Given the description of an element on the screen output the (x, y) to click on. 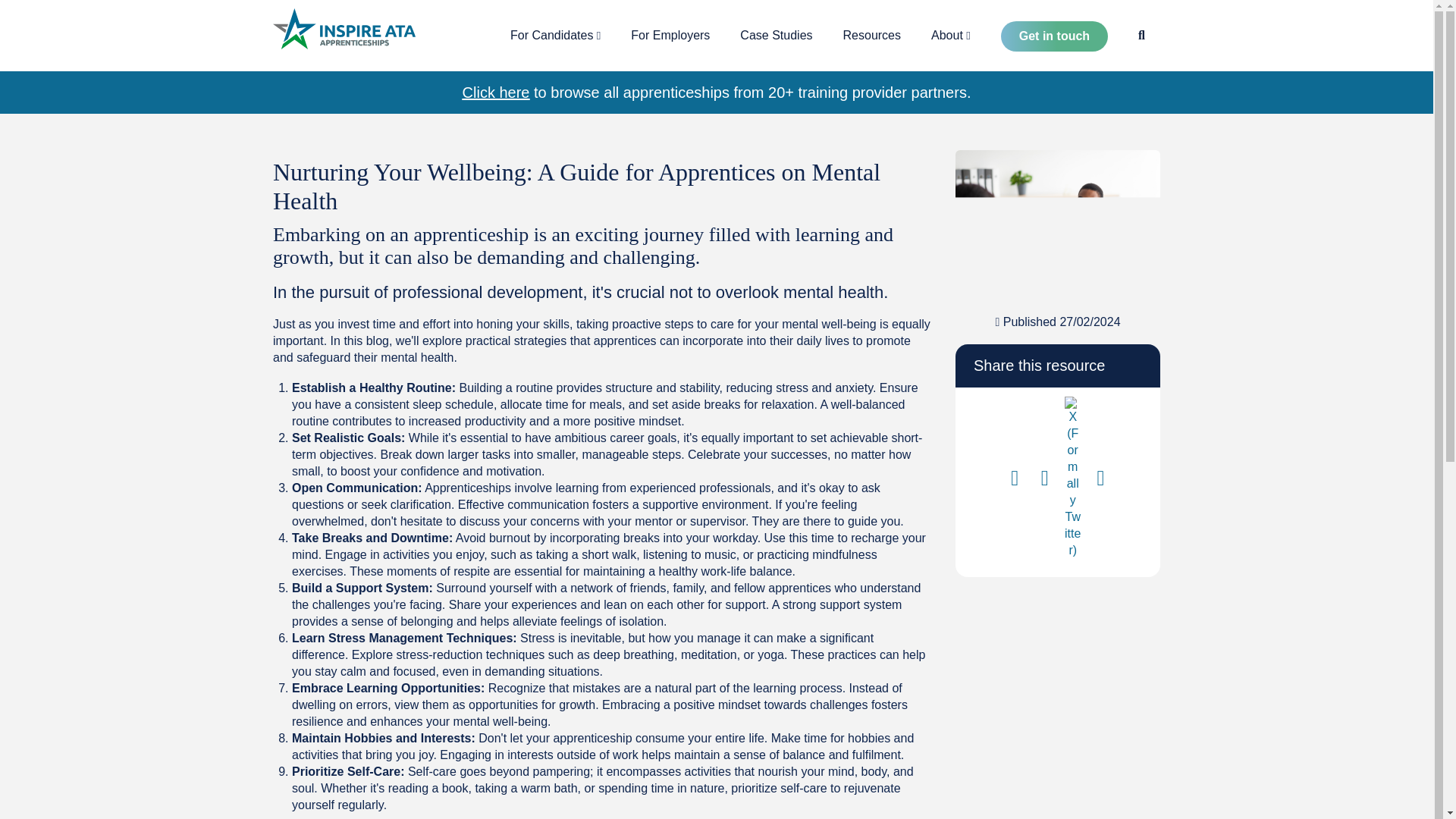
Share on LinkedIn (1044, 481)
Share on Facebook (1014, 481)
Get in touch (1054, 36)
Click here (496, 92)
For Candidates (555, 35)
Resources (871, 35)
About (950, 35)
Case Studies (776, 35)
Share by email (1100, 481)
For Employers (670, 35)
